Given the description of an element on the screen output the (x, y) to click on. 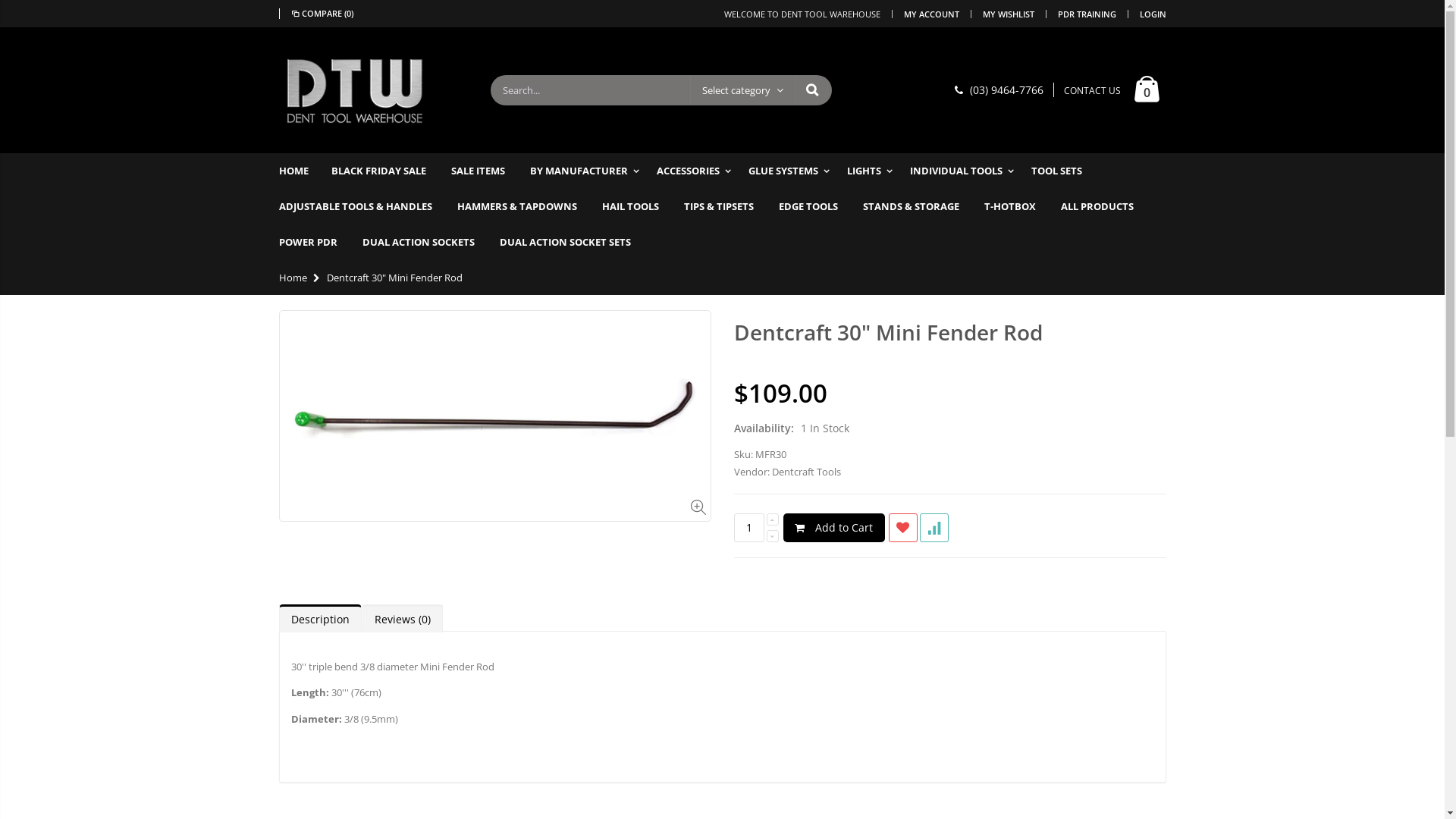
LOGIN Element type: text (1152, 13)
MY WISHLIST Element type: text (1008, 13)
BLACK FRIDAY SALE Element type: text (385, 170)
BY MANUFACTURER Element type: text (587, 170)
HOME Element type: text (301, 170)
PDR TRAINING Element type: text (1086, 13)
GLUE SYSTEMS Element type: text (791, 170)
Add to wishlist Element type: hover (902, 527)
Add to compare Element type: hover (933, 527)
Select category Element type: text (742, 89)
MY ACCOUNT Element type: text (931, 13)
HAMMERS & TAPDOWNS Element type: text (523, 206)
Search Element type: text (812, 89)
ACCESSORIES Element type: text (697, 170)
HAIL TOOLS Element type: text (638, 206)
DUAL ACTION SOCKET SETS Element type: text (571, 242)
ADJUSTABLE TOOLS & HANDLES Element type: text (363, 206)
POWER PDR Element type: text (315, 242)
Add to Cart Element type: text (833, 527)
Home Element type: text (293, 277)
EDGE TOOLS Element type: text (815, 206)
INDIVIDUAL TOOLS Element type: text (965, 170)
CONTACT US Element type: text (1091, 90)
Description Element type: text (320, 618)
Dentcraft 30" Mini Fender Rod Element type: text (888, 331)
SALE ITEMS Element type: text (484, 170)
TIPS & TIPSETS Element type: text (726, 206)
COMPARE (0) Element type: text (321, 13)
Reviews (0) Element type: text (402, 618)
DUAL ACTION SOCKETS Element type: text (425, 242)
ALL PRODUCTS Element type: text (1104, 206)
LIGHTS Element type: text (872, 170)
T-HOTBOX Element type: text (1017, 206)
TOOL SETS Element type: text (1064, 170)
STANDS & STORAGE Element type: text (918, 206)
0 Element type: text (1146, 89)
